Given the description of an element on the screen output the (x, y) to click on. 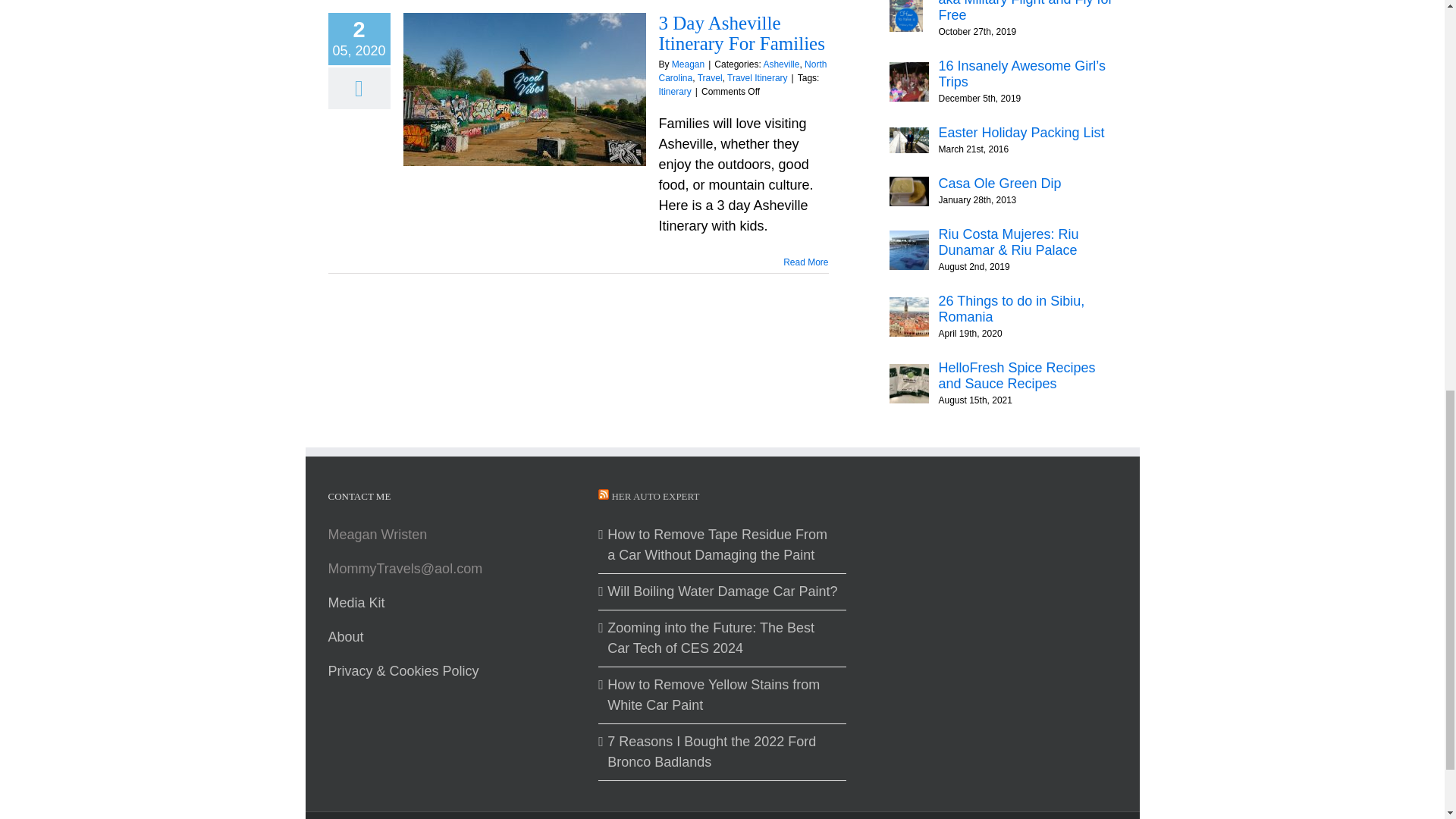
3 Day Asheville Itinerary For Families 2 (524, 89)
Posts by Meagan (687, 63)
16 Insanely Awesome Girl's Trips 4 (908, 81)
